Given the description of an element on the screen output the (x, y) to click on. 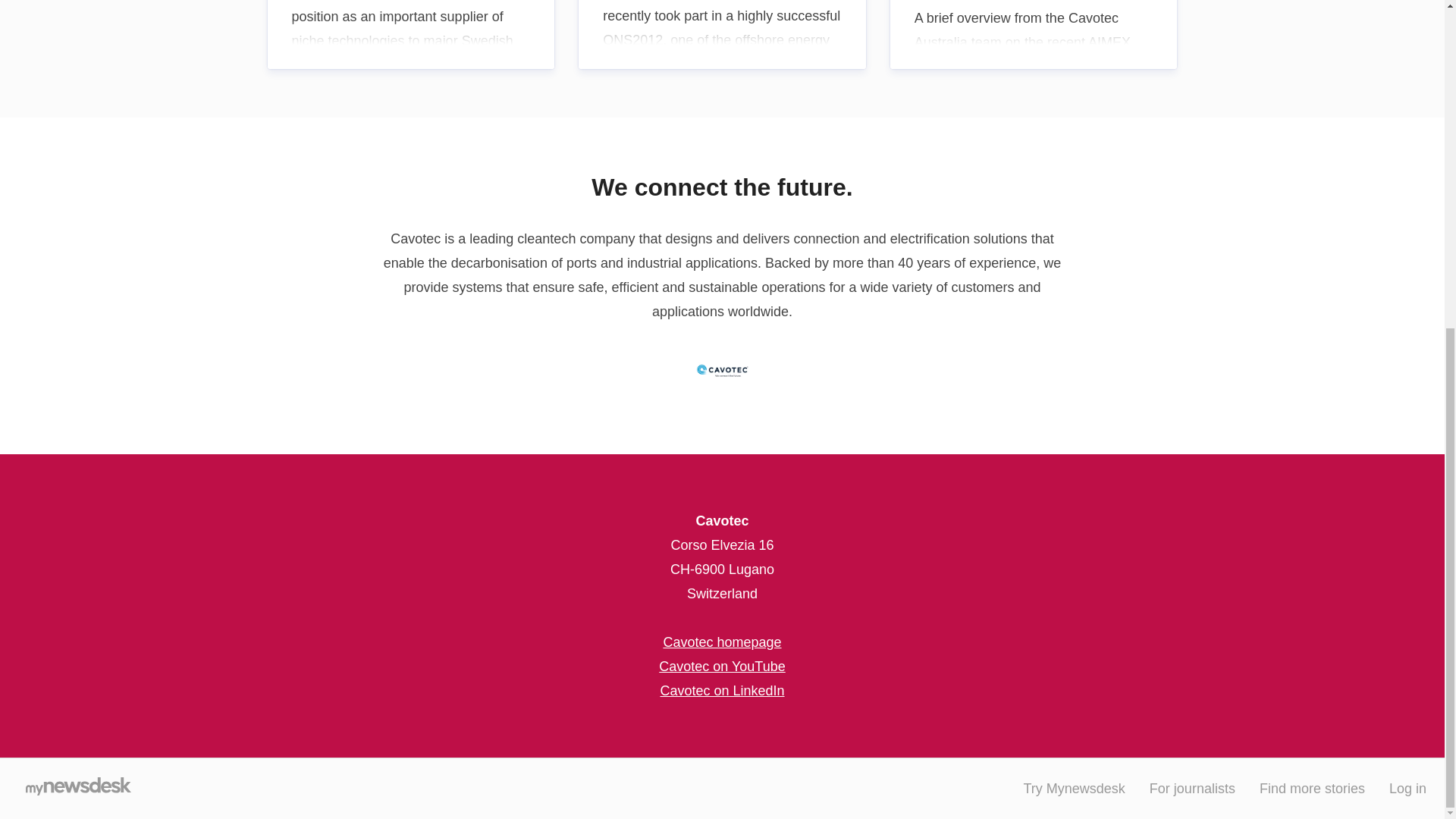
Cavotec homepage (721, 642)
Cavotec on YouTube (721, 666)
Cavotec's radio remote control experts at ONS2012 (722, 34)
Go to mynewsdesk.com (77, 788)
Find more stories (1312, 788)
Cavotec on LinkedIn (721, 690)
For journalists (1192, 788)
Try Mynewsdesk (1074, 788)
Log in (1407, 788)
